Given the description of an element on the screen output the (x, y) to click on. 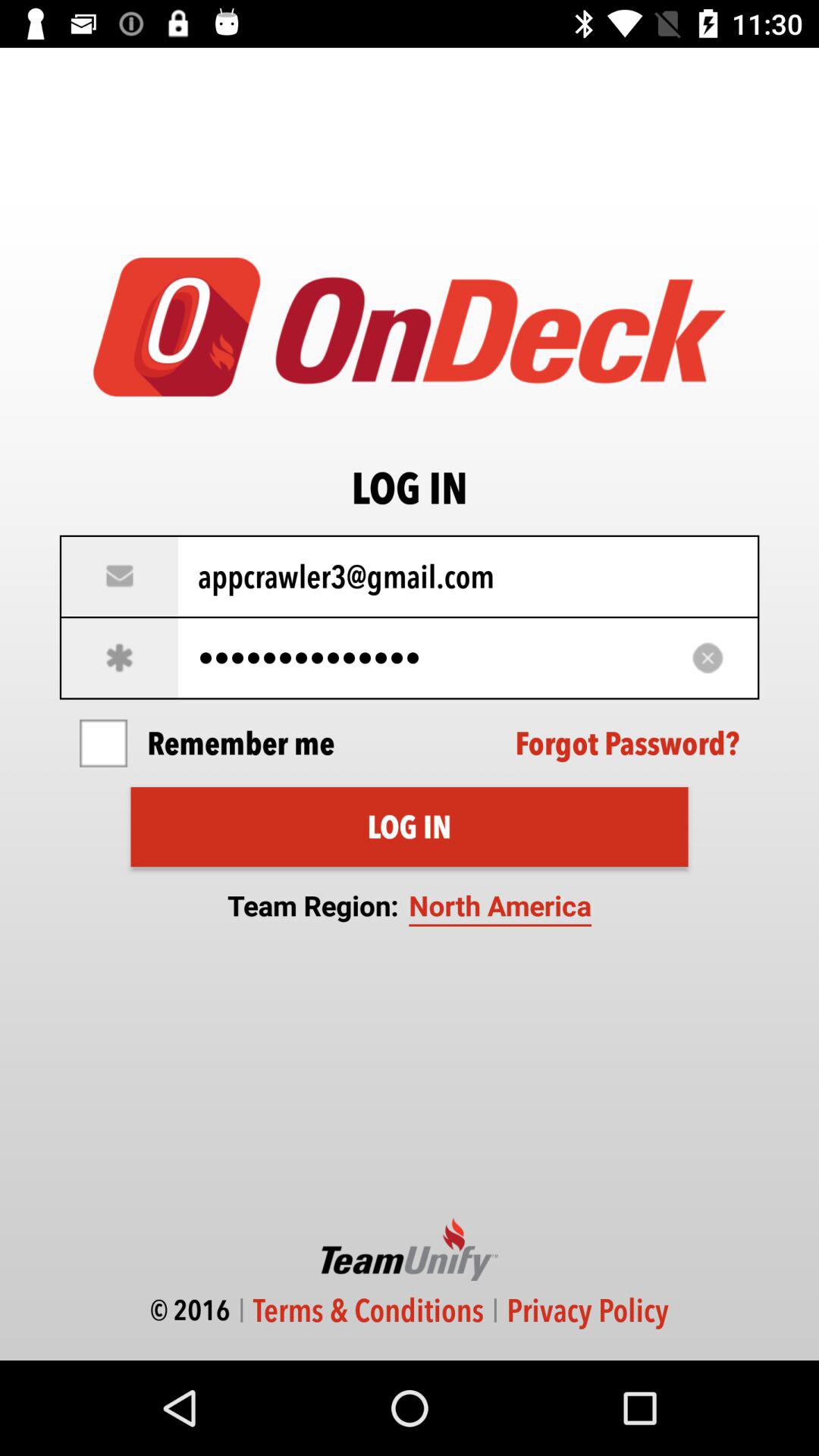
choose icon to the right of the remember me item (627, 743)
